Given the description of an element on the screen output the (x, y) to click on. 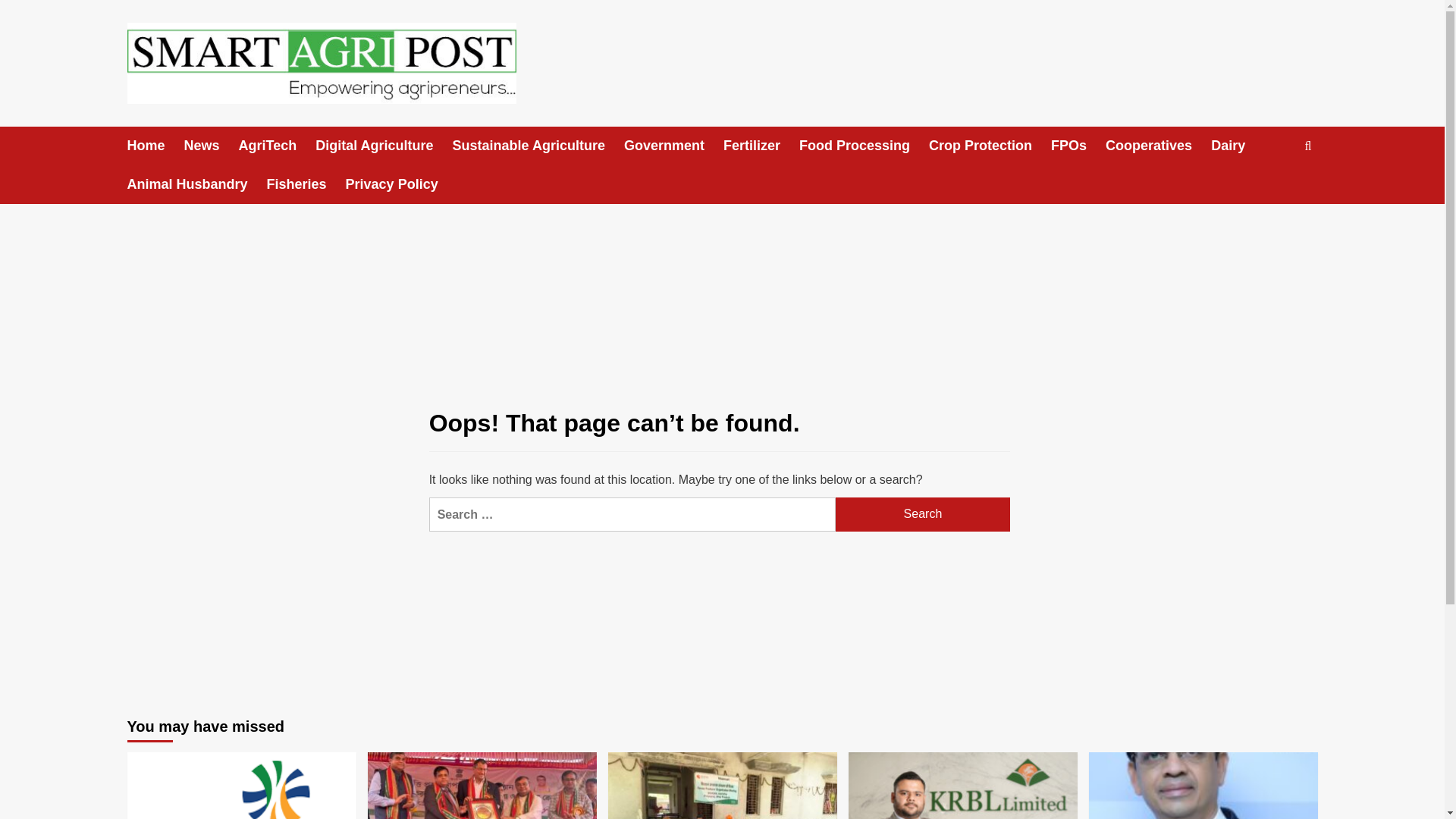
FPOs (1078, 145)
Government (673, 145)
Search (922, 514)
Animal Husbandry (197, 184)
Search (922, 514)
Digital Agriculture (383, 145)
Search (1272, 192)
Crop Protection (989, 145)
Fisheries (306, 184)
Fertilizer (761, 145)
